Given the description of an element on the screen output the (x, y) to click on. 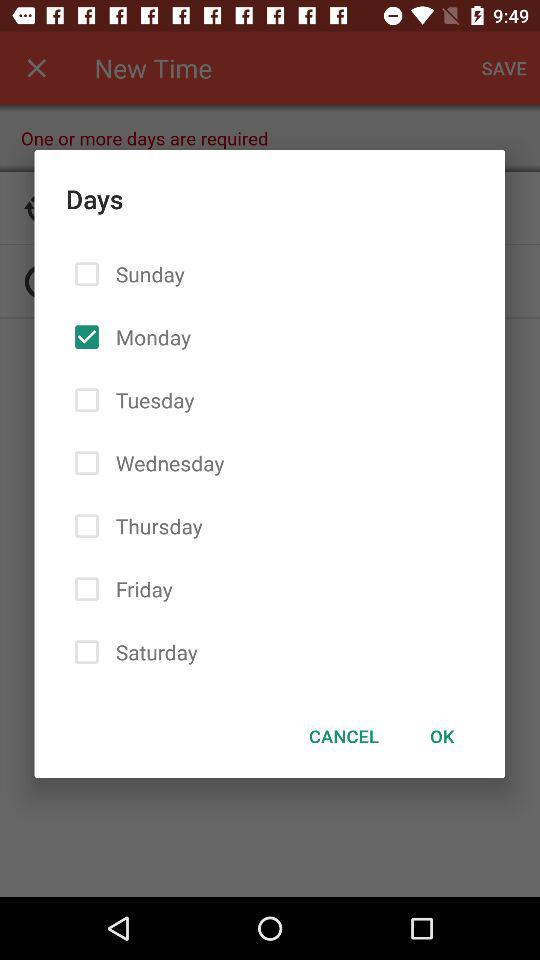
flip until the sunday (146, 273)
